Given the description of an element on the screen output the (x, y) to click on. 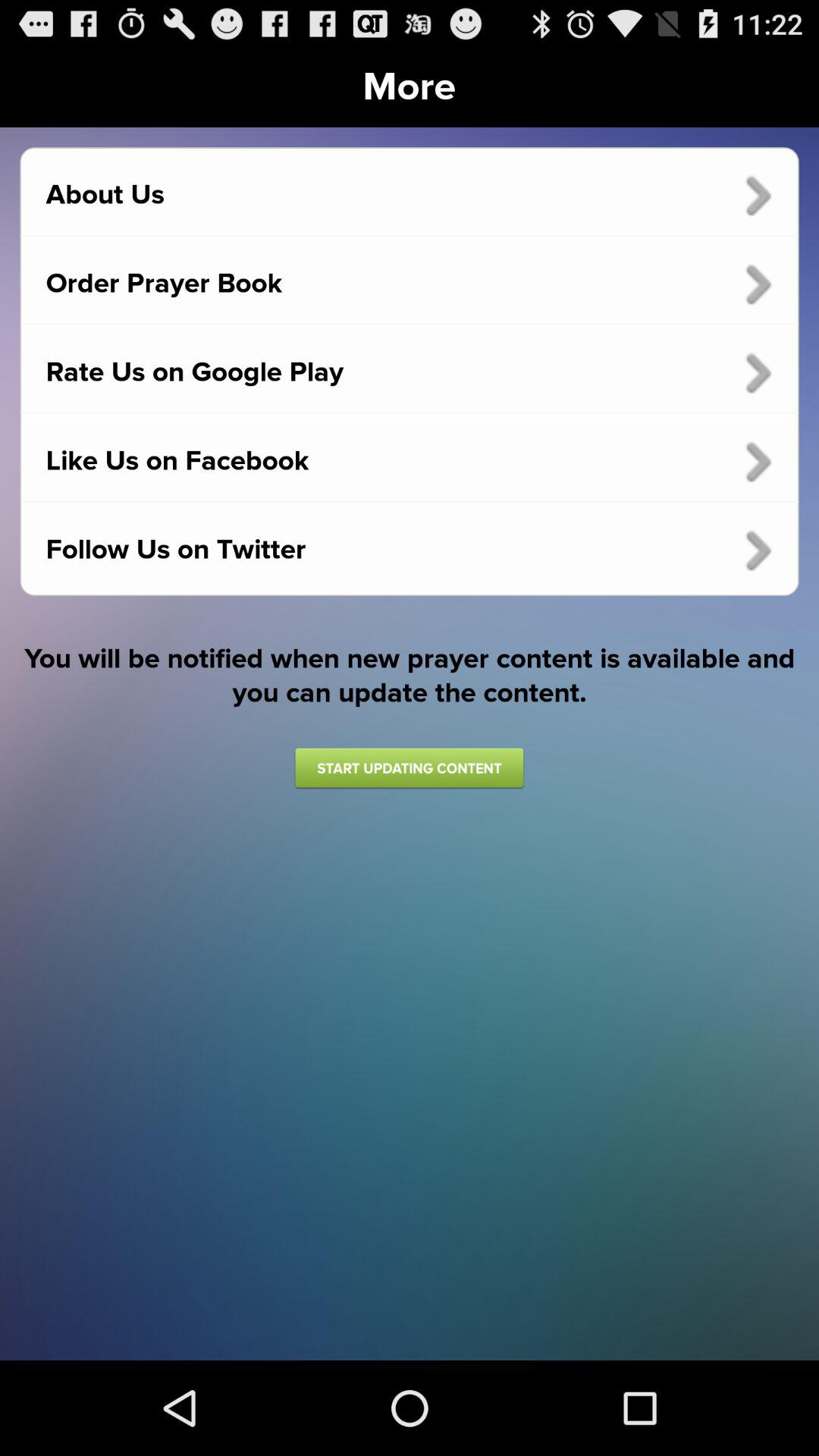
tap the icon below the more item (409, 195)
